Given the description of an element on the screen output the (x, y) to click on. 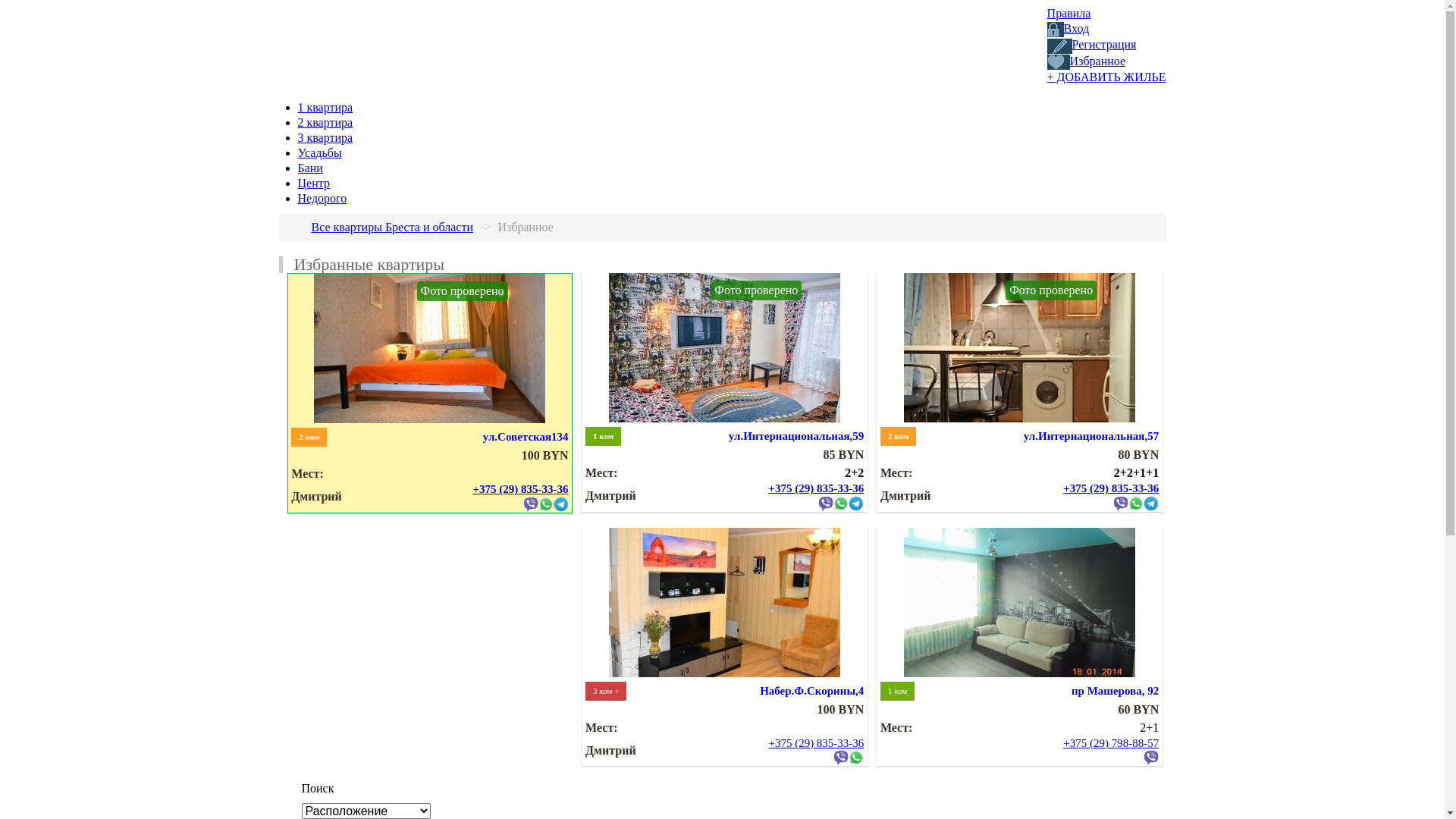
+375 (29) 798-88-57 Element type: text (1110, 743)
+375 (29) 835-33-36 Element type: text (1110, 488)
+375 (29) 835-33-36 Element type: text (520, 489)
+375 (29) 835-33-36 Element type: text (815, 488)
+375 (29) 835-33-36 Element type: text (815, 743)
